Given the description of an element on the screen output the (x, y) to click on. 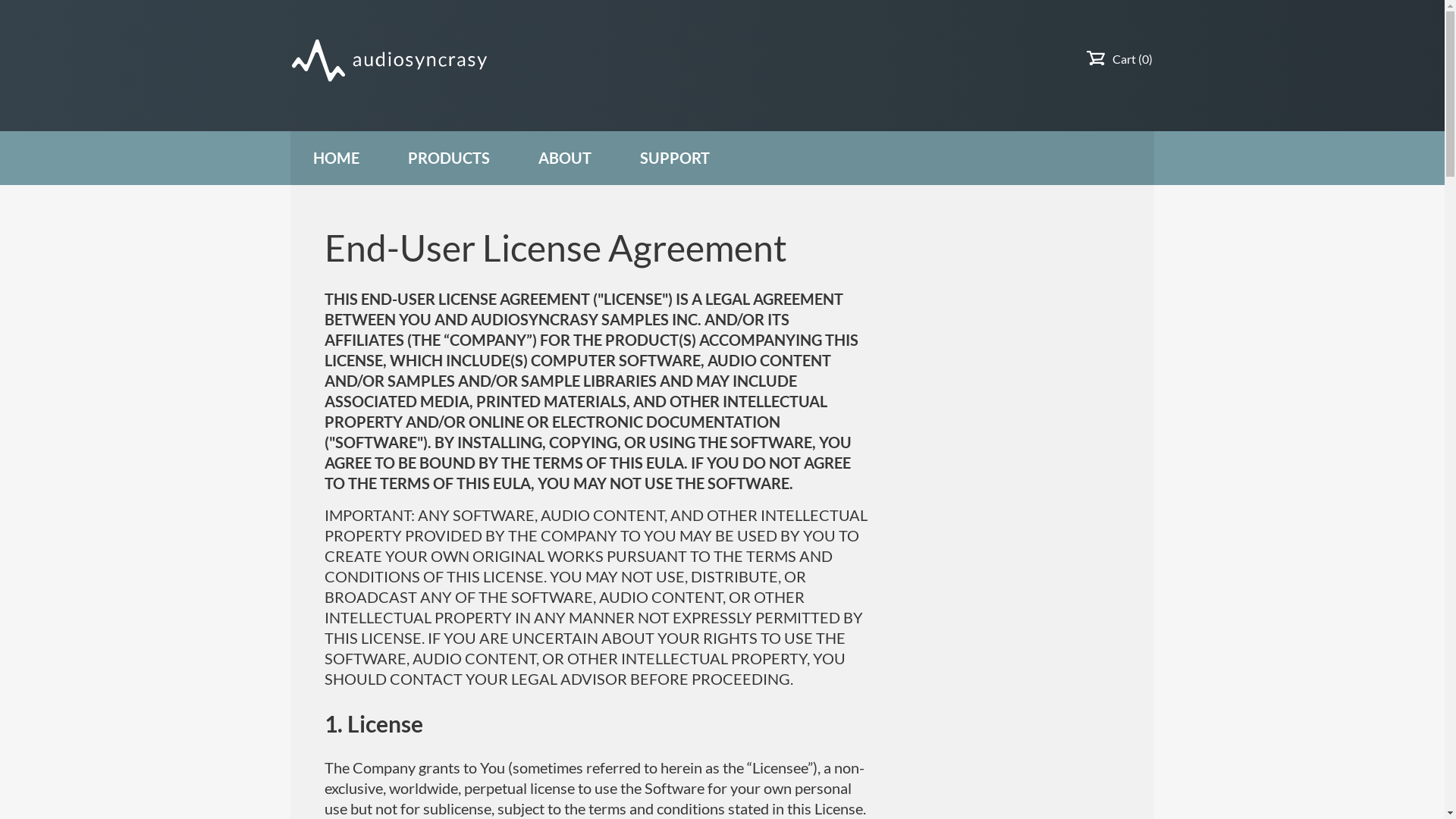
SUPPORT Element type: text (674, 158)
ABOUT Element type: text (564, 158)
HOME Element type: text (336, 158)
Cart (0) Element type: text (1132, 58)
PRODUCTS Element type: text (448, 158)
